Given the description of an element on the screen output the (x, y) to click on. 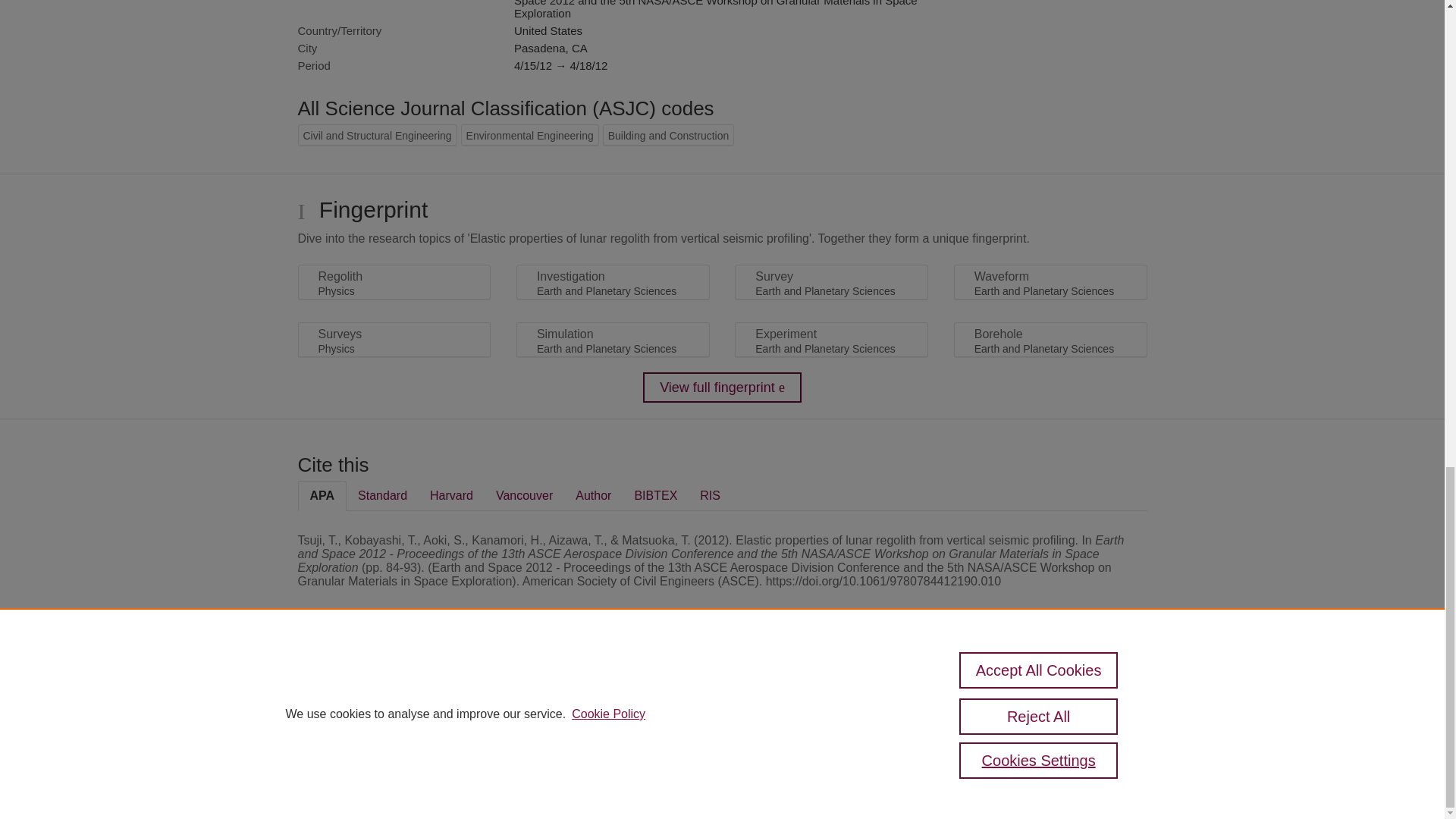
Elsevier B.V. (506, 707)
View full fingerprint (722, 387)
Scopus (394, 686)
Pure (362, 686)
